Given the description of an element on the screen output the (x, y) to click on. 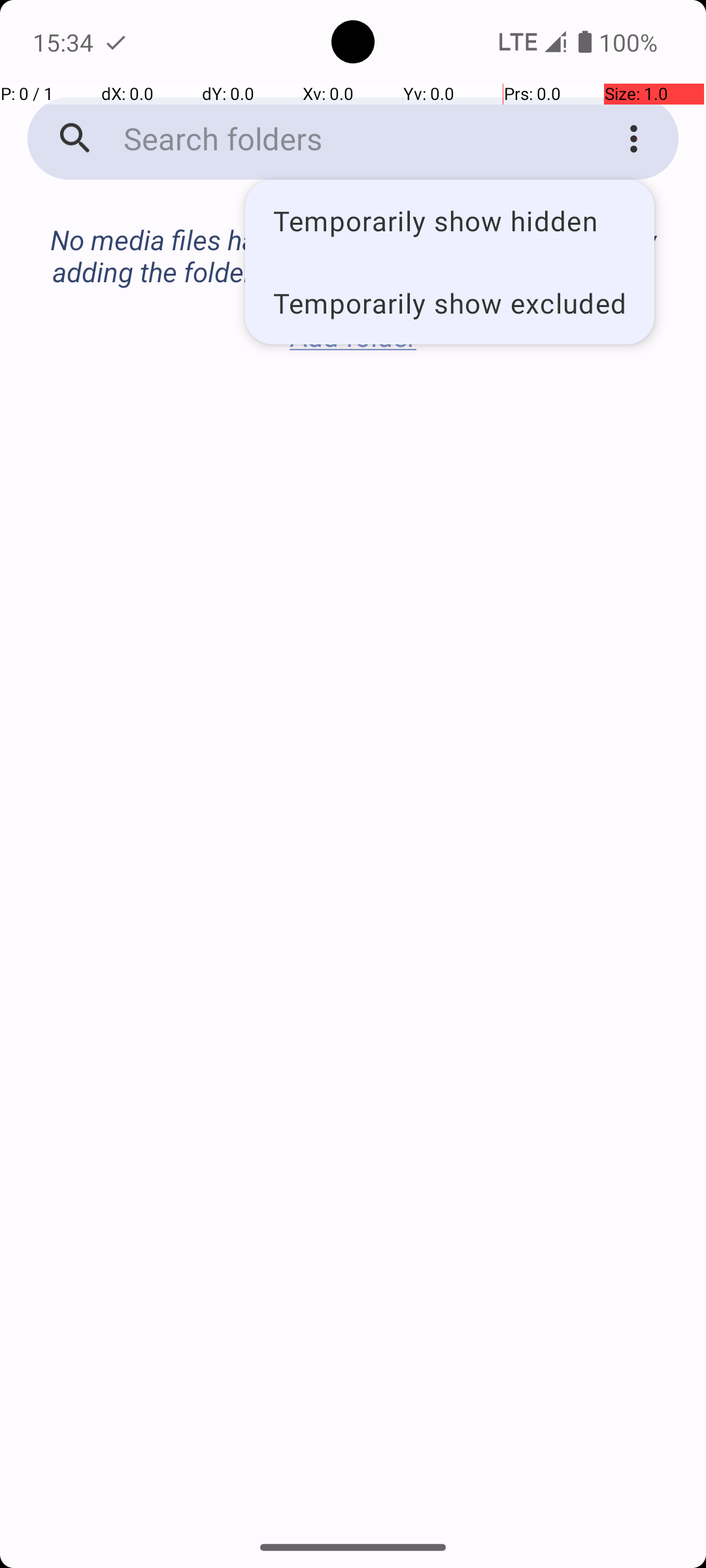
Temporarily show hidden Element type: android.widget.TextView (449, 220)
Temporarily show excluded Element type: android.widget.TextView (449, 302)
